Given the description of an element on the screen output the (x, y) to click on. 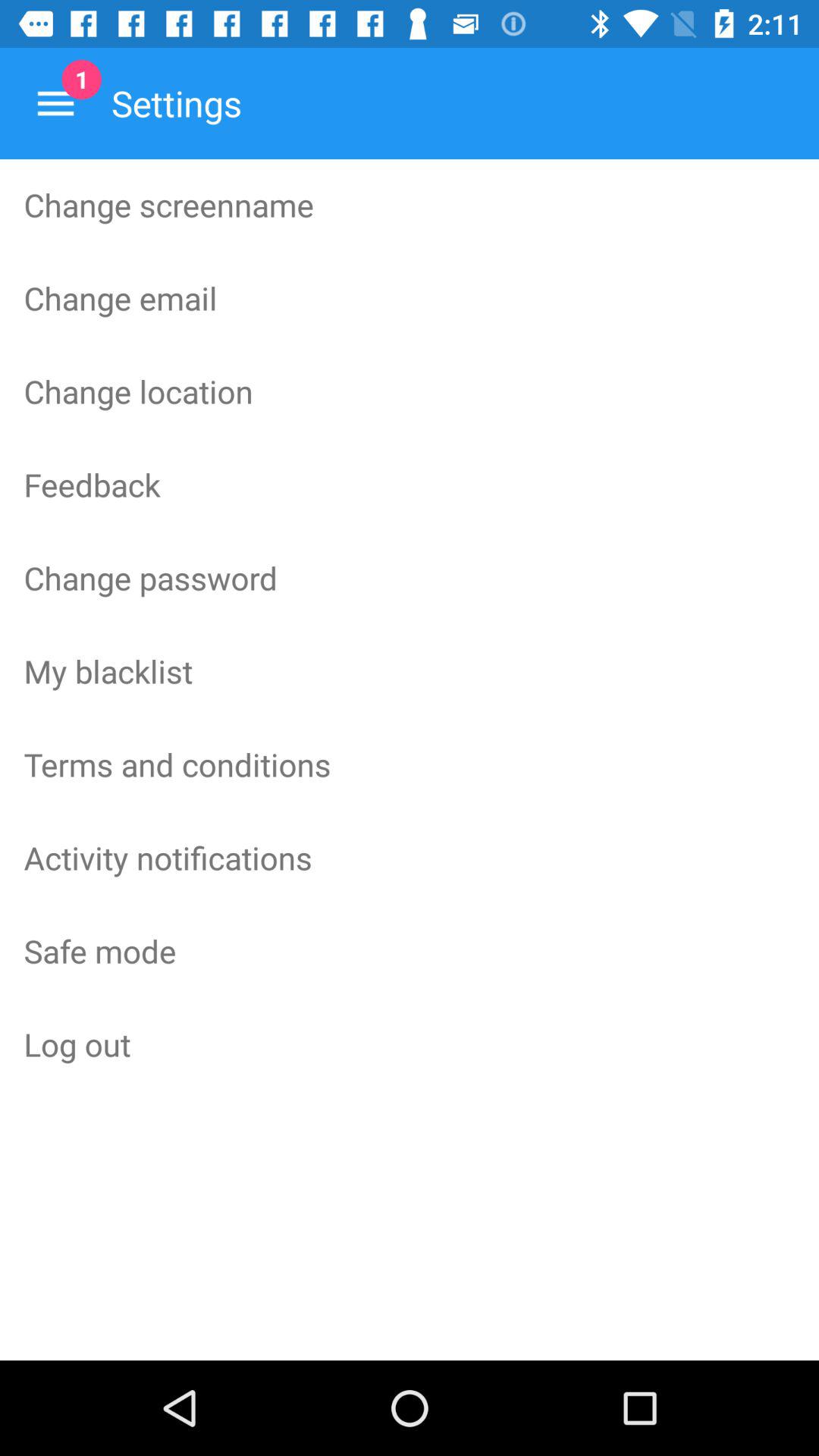
launch the item above the change email icon (409, 204)
